Given the description of an element on the screen output the (x, y) to click on. 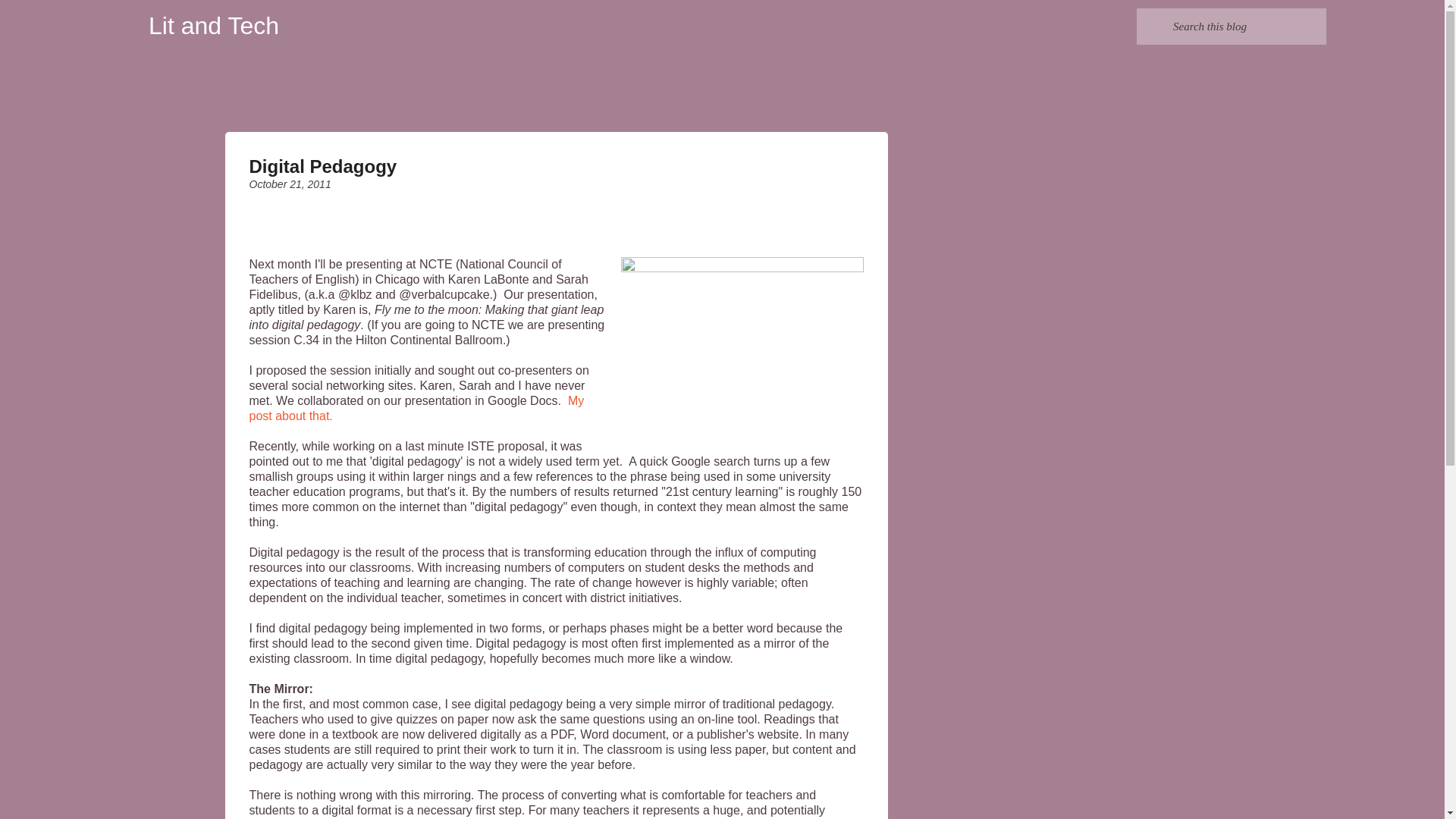
October 21, 2011 (289, 184)
permanent link (289, 184)
My post about that. (415, 407)
Lit and Tech (213, 25)
